Given the description of an element on the screen output the (x, y) to click on. 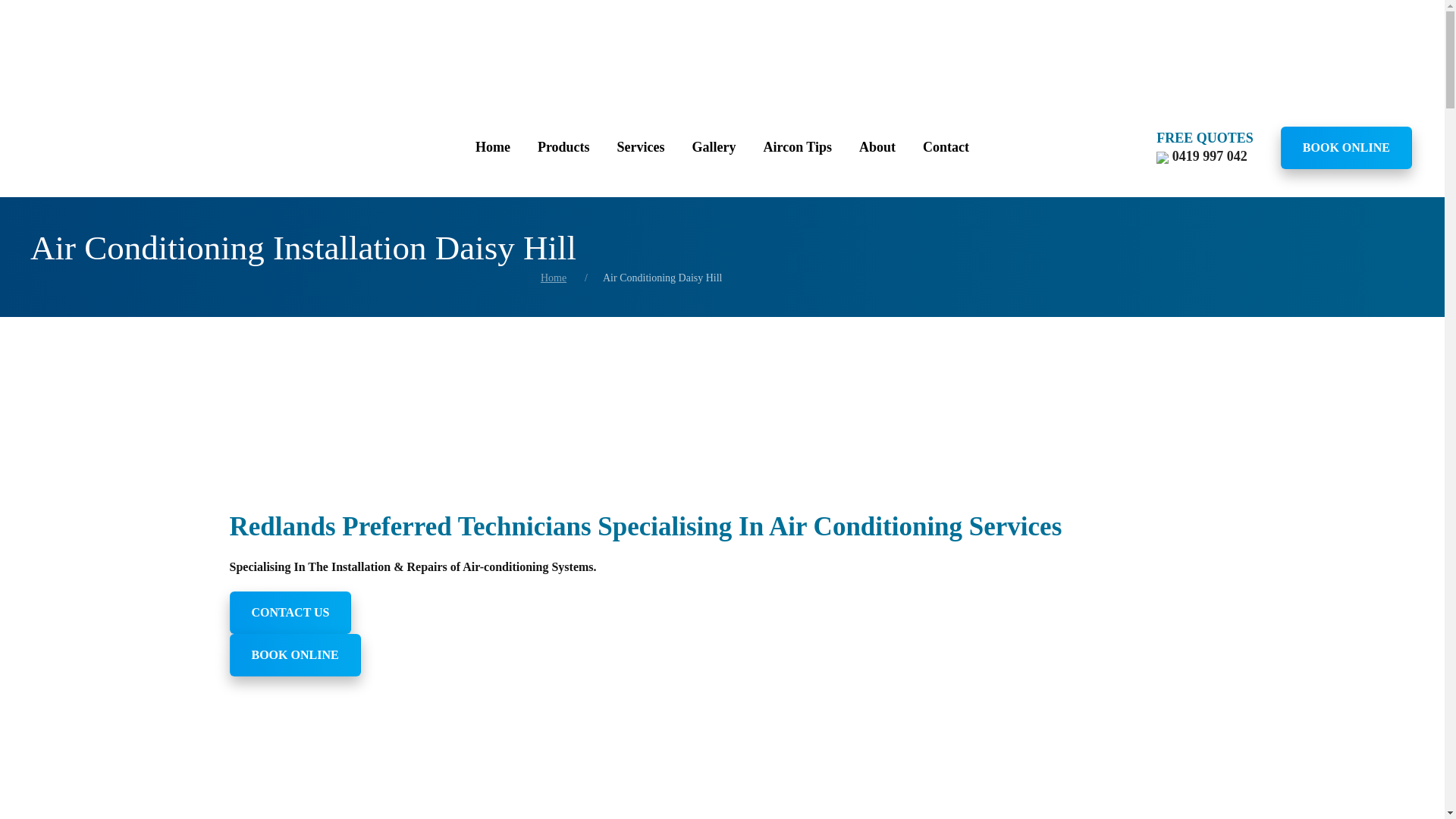
Home (553, 277)
BOOK ONLINE (1346, 147)
Products (564, 147)
0419 997 042 (1201, 155)
Aircon Tips (797, 147)
Home (492, 147)
CONTACT US (289, 612)
Gallery (713, 147)
BOOK ONLINE (293, 654)
Services (641, 147)
About (876, 147)
Contact (945, 147)
